Given the description of an element on the screen output the (x, y) to click on. 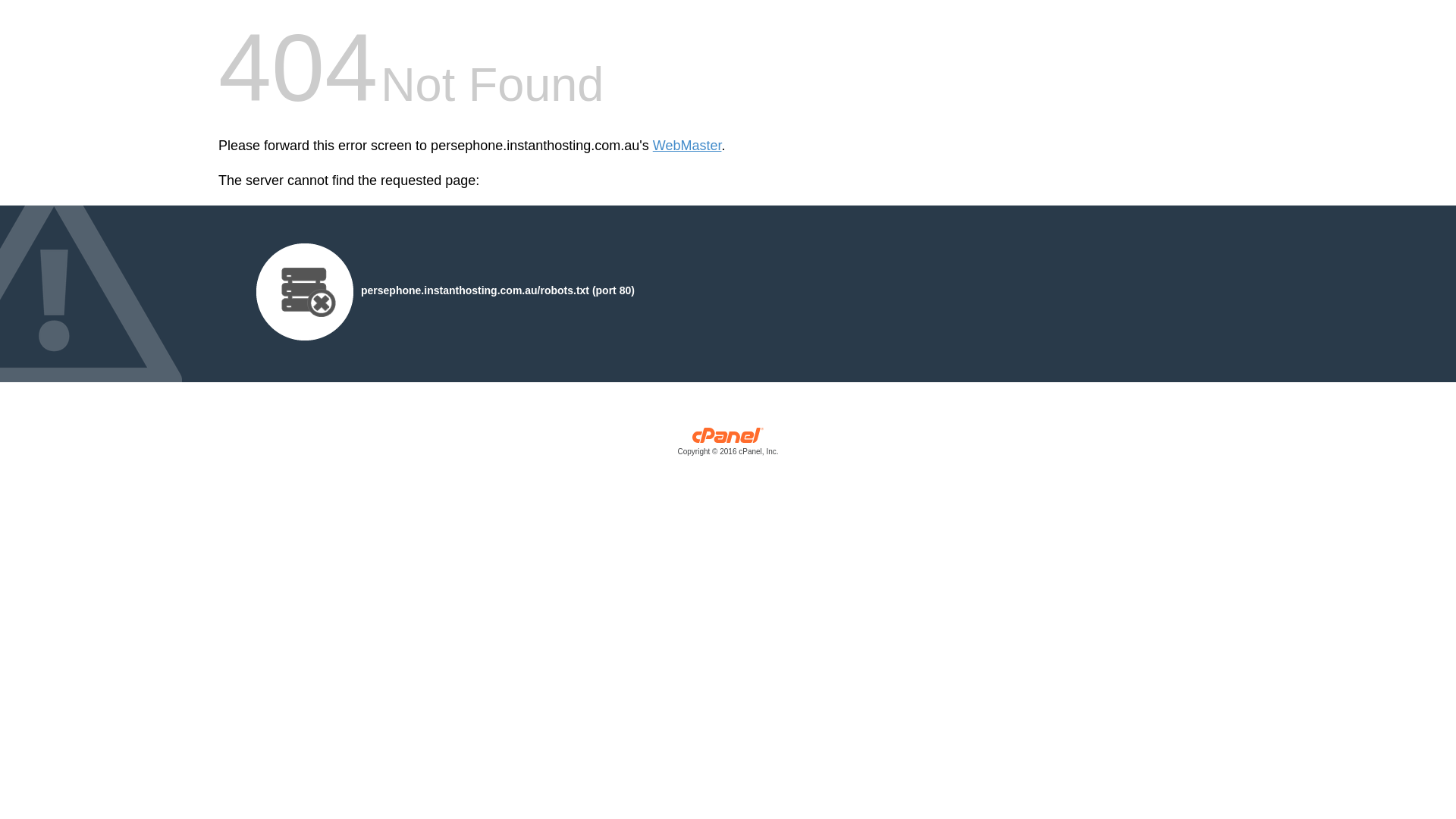
WebMaster Element type: text (686, 145)
